Given the description of an element on the screen output the (x, y) to click on. 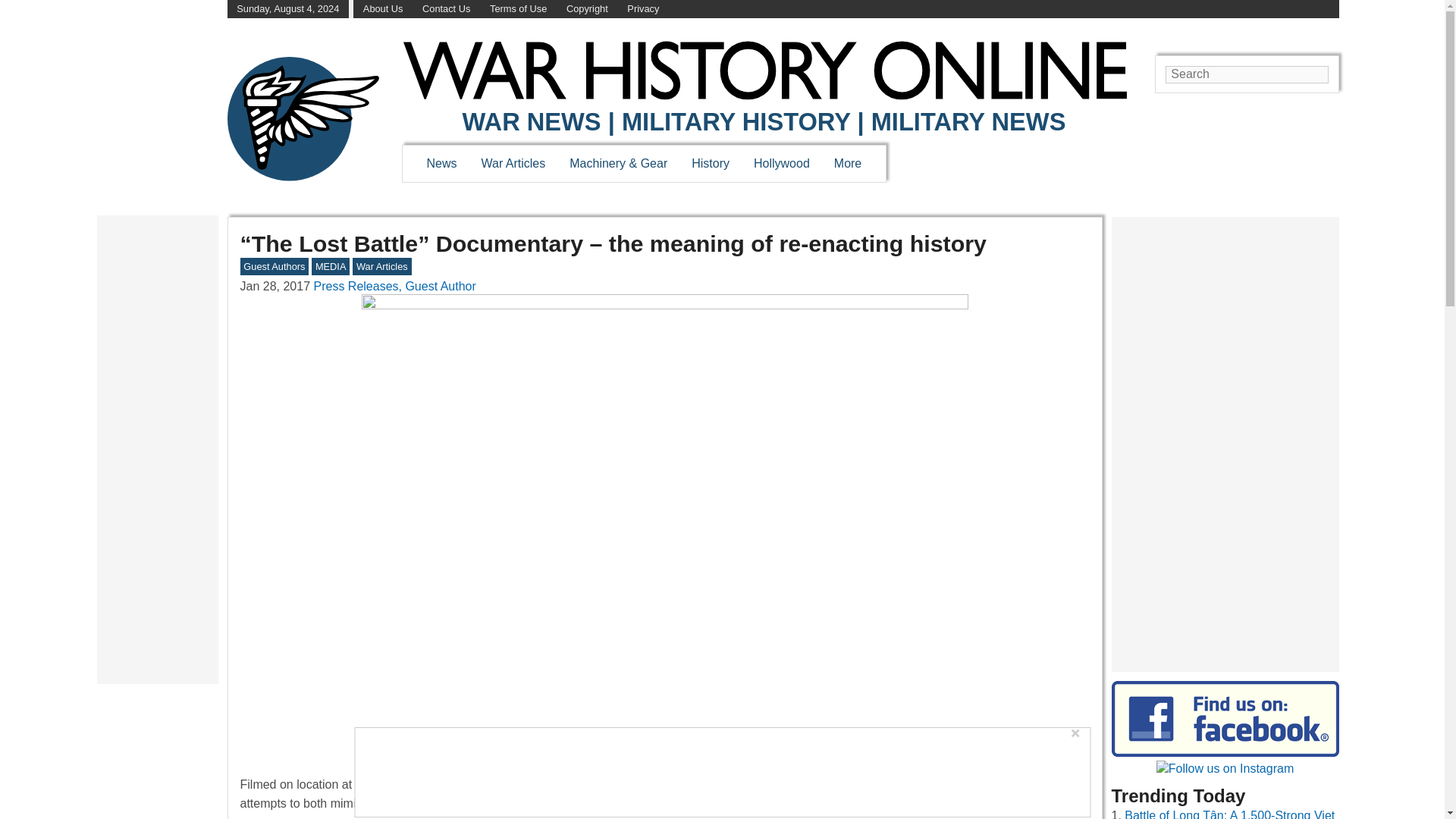
Copyright (587, 8)
History (710, 163)
Contact Us (446, 8)
News (441, 163)
War Articles (513, 163)
Hollywood (781, 163)
Terms of Use (518, 8)
More (847, 163)
Privacy (643, 8)
About Us (382, 8)
